Given the description of an element on the screen output the (x, y) to click on. 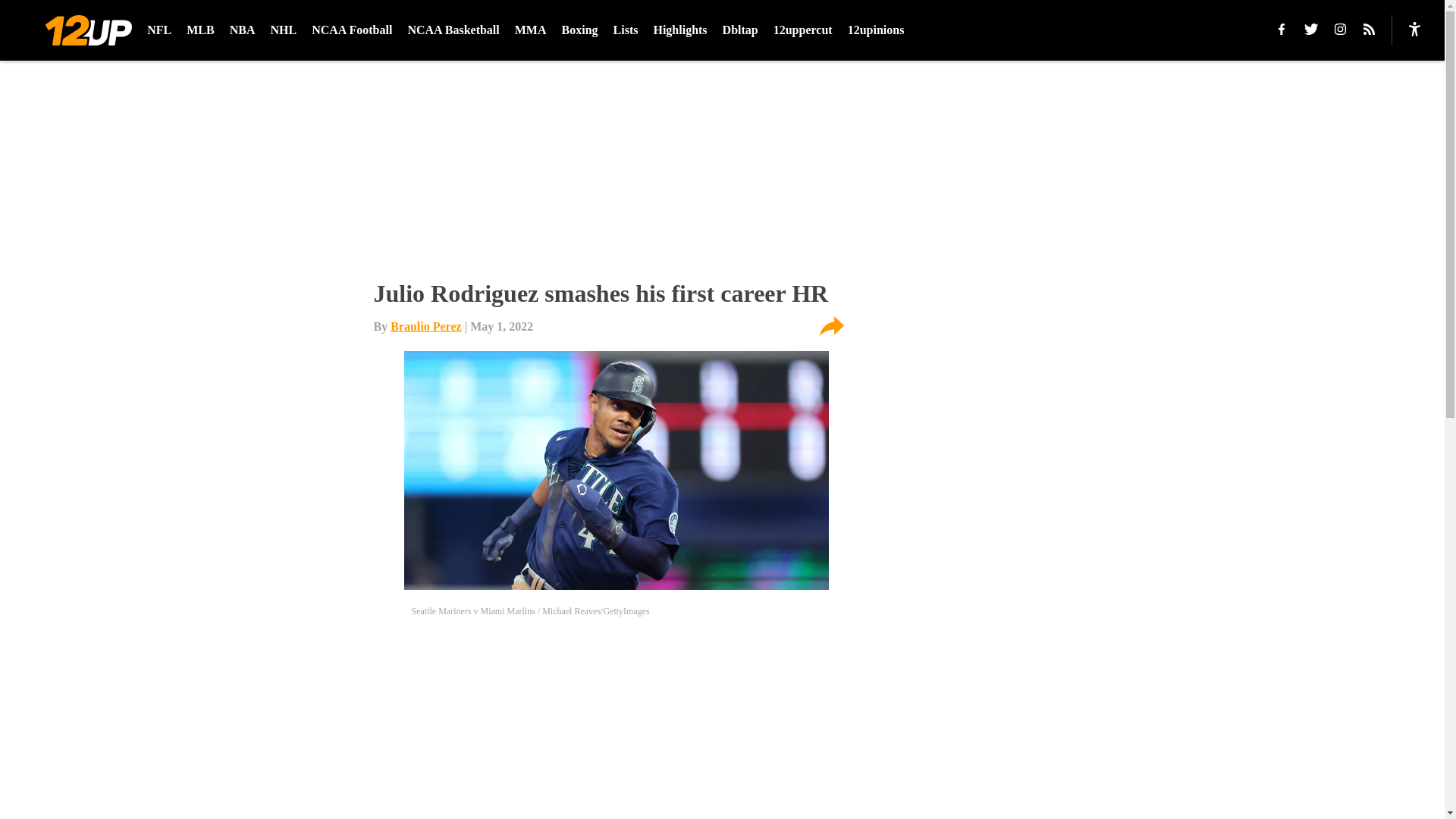
NCAA Basketball (453, 30)
Lists (625, 30)
NCAA Football (351, 30)
12uppercut (802, 30)
Seattle Mariners v Miami Marlins (615, 470)
Boxing (580, 30)
NBA (243, 30)
MLB (200, 30)
Highlights (679, 30)
Dbltap (740, 30)
